Given the description of an element on the screen output the (x, y) to click on. 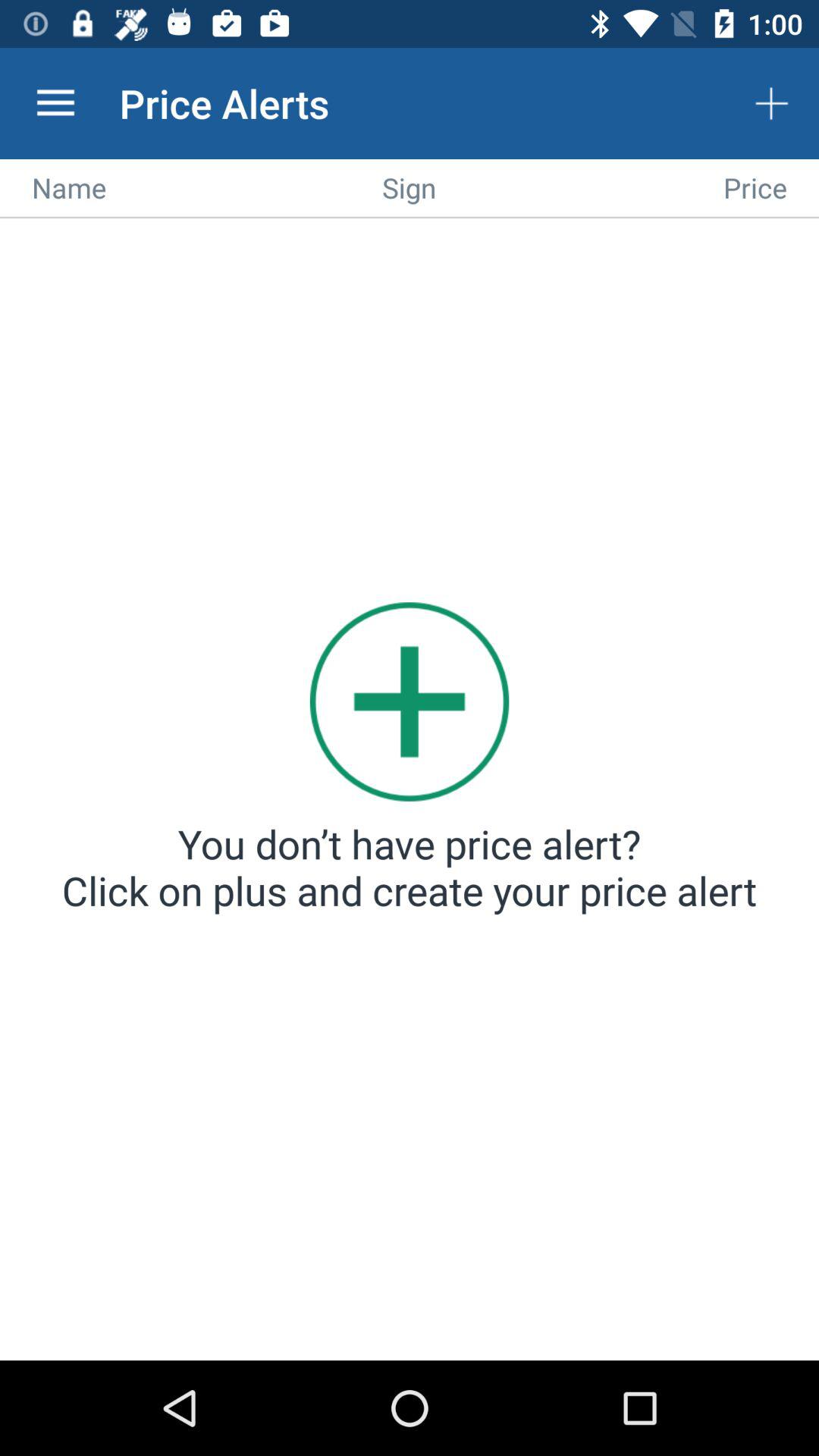
turn on app next to price alerts icon (55, 103)
